Given the description of an element on the screen output the (x, y) to click on. 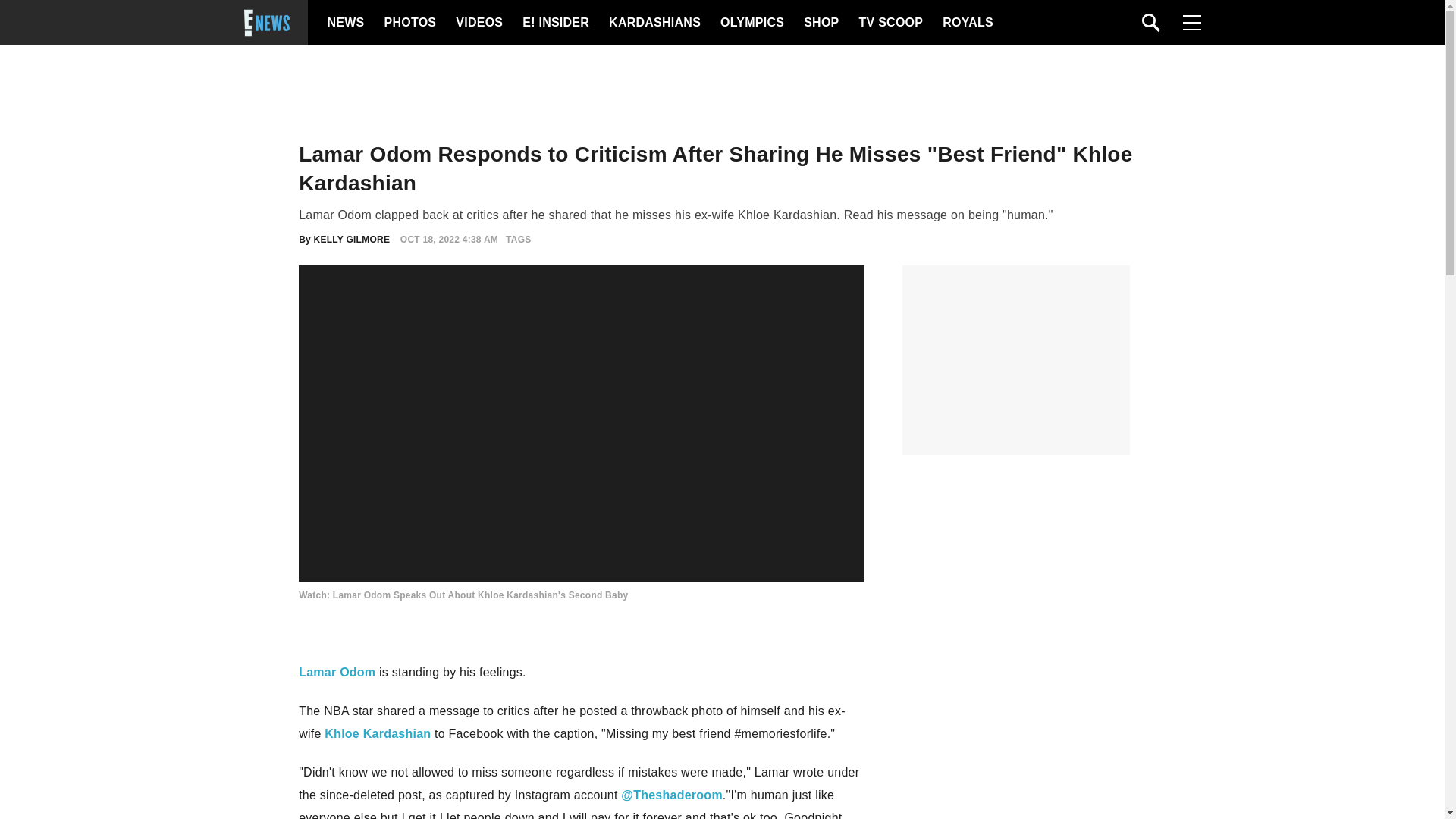
Lamar Odom (336, 671)
ROYALS (966, 22)
KELLY GILMORE (352, 239)
Khloe Kardashian (377, 733)
E! INSIDER (555, 22)
SHOP (820, 22)
VIDEOS (478, 22)
PHOTOS (408, 22)
NEWS (345, 22)
TV SCOOP (890, 22)
